Given the description of an element on the screen output the (x, y) to click on. 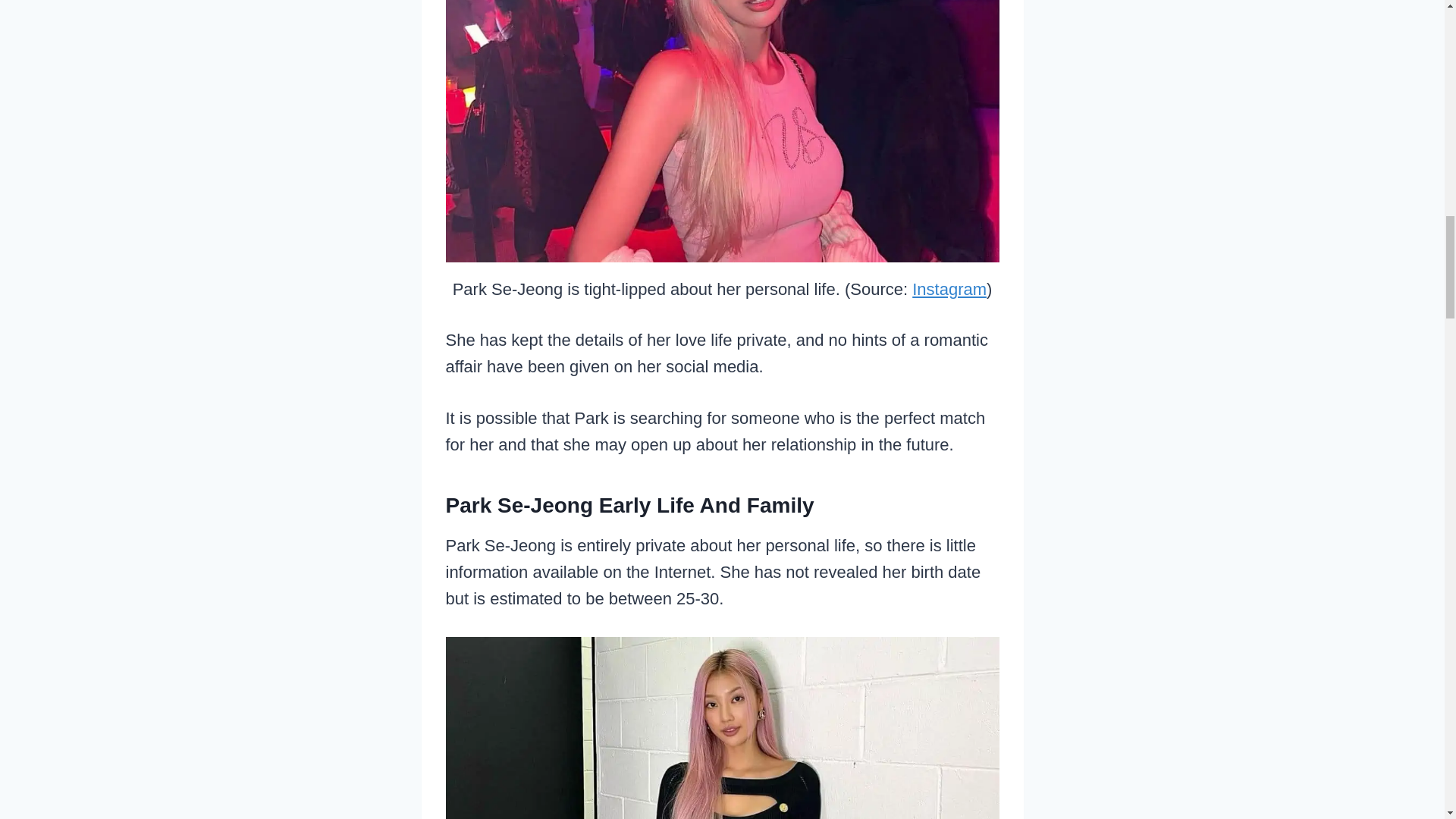
Instagram (949, 289)
